Given the description of an element on the screen output the (x, y) to click on. 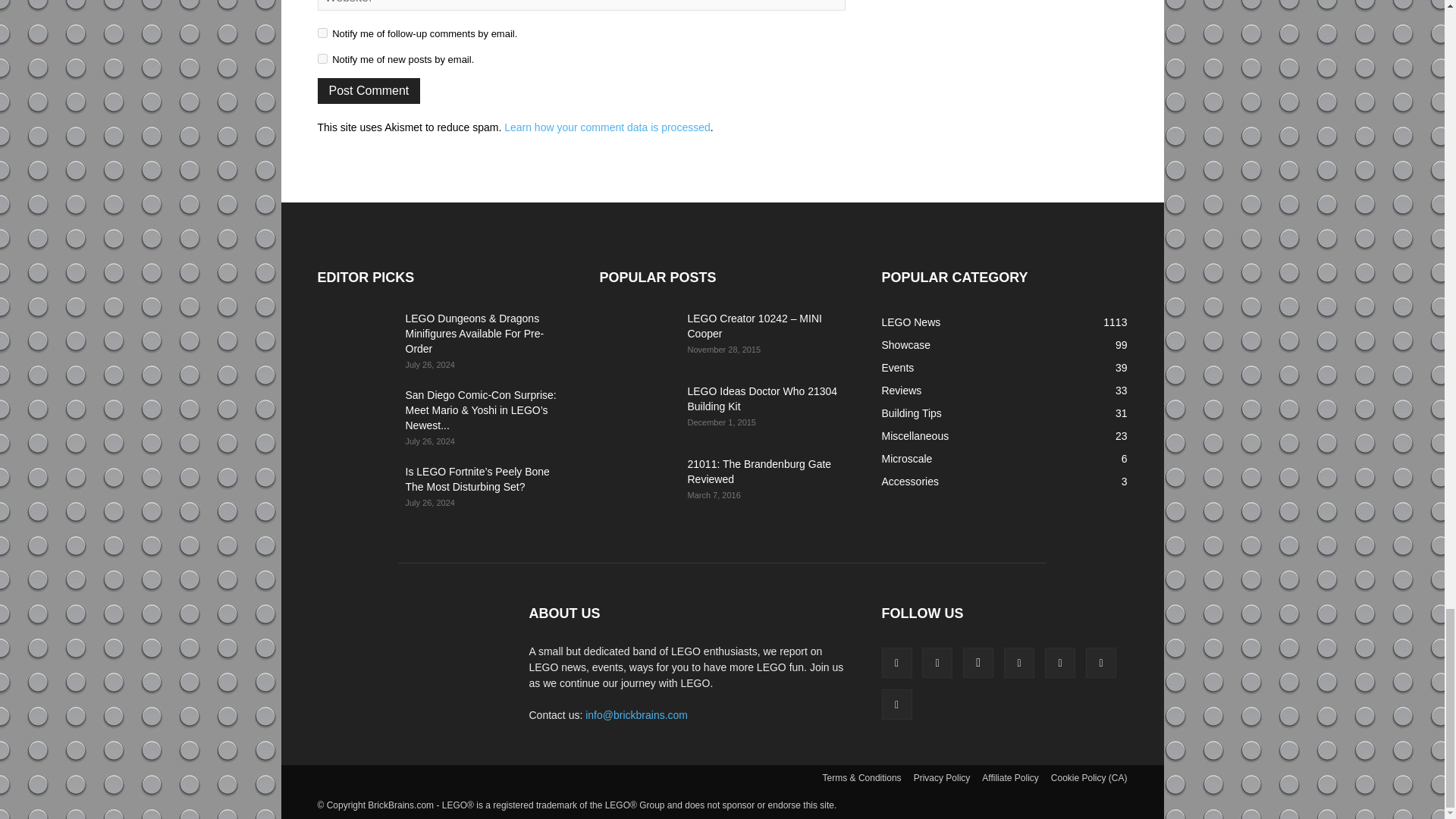
subscribe (321, 32)
Post Comment (368, 90)
subscribe (321, 58)
